Given the description of an element on the screen output the (x, y) to click on. 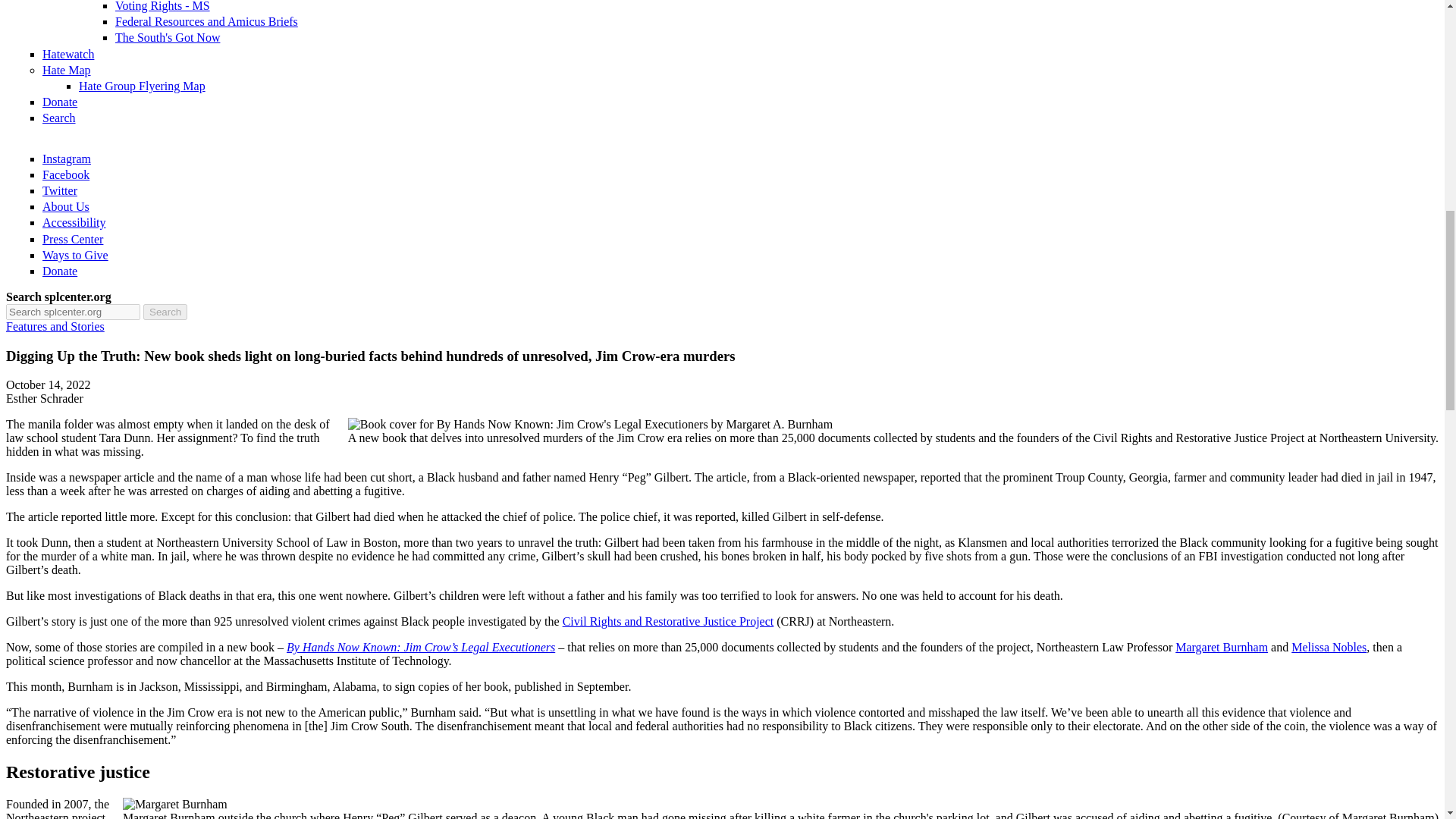
Donate (59, 101)
Search (58, 117)
hands-now-known-book-cover (589, 424)
margaret-burnham-church (174, 804)
